Given the description of an element on the screen output the (x, y) to click on. 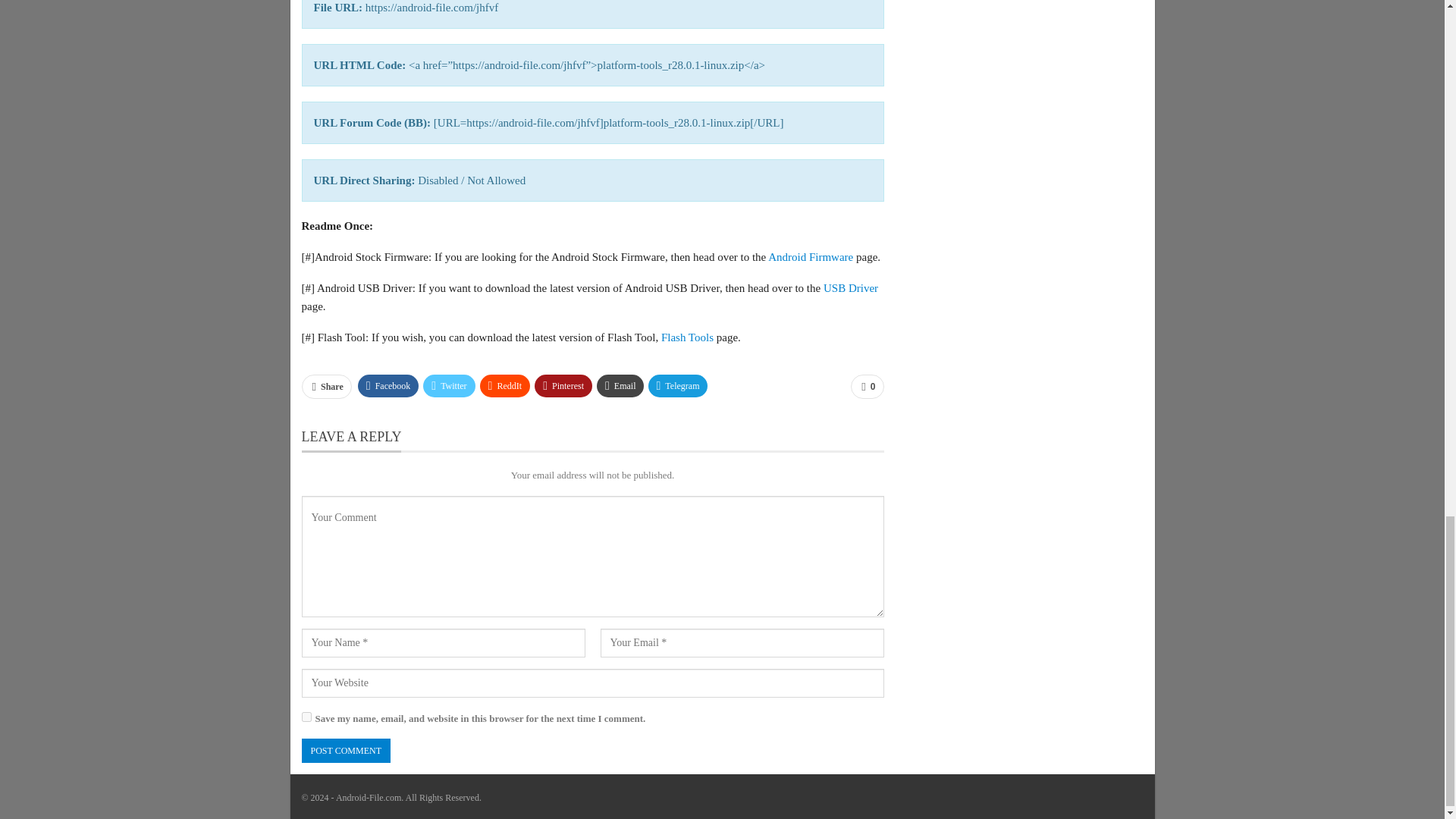
ReddIt (505, 385)
0 (866, 386)
Telegram (677, 385)
Android Firmware (810, 256)
Pinterest (563, 385)
yes (306, 716)
Flash Tools (687, 337)
Post Comment (345, 750)
Twitter (448, 385)
USB Driver (850, 287)
Post Comment (345, 750)
Facebook (388, 385)
Email (620, 385)
